Given the description of an element on the screen output the (x, y) to click on. 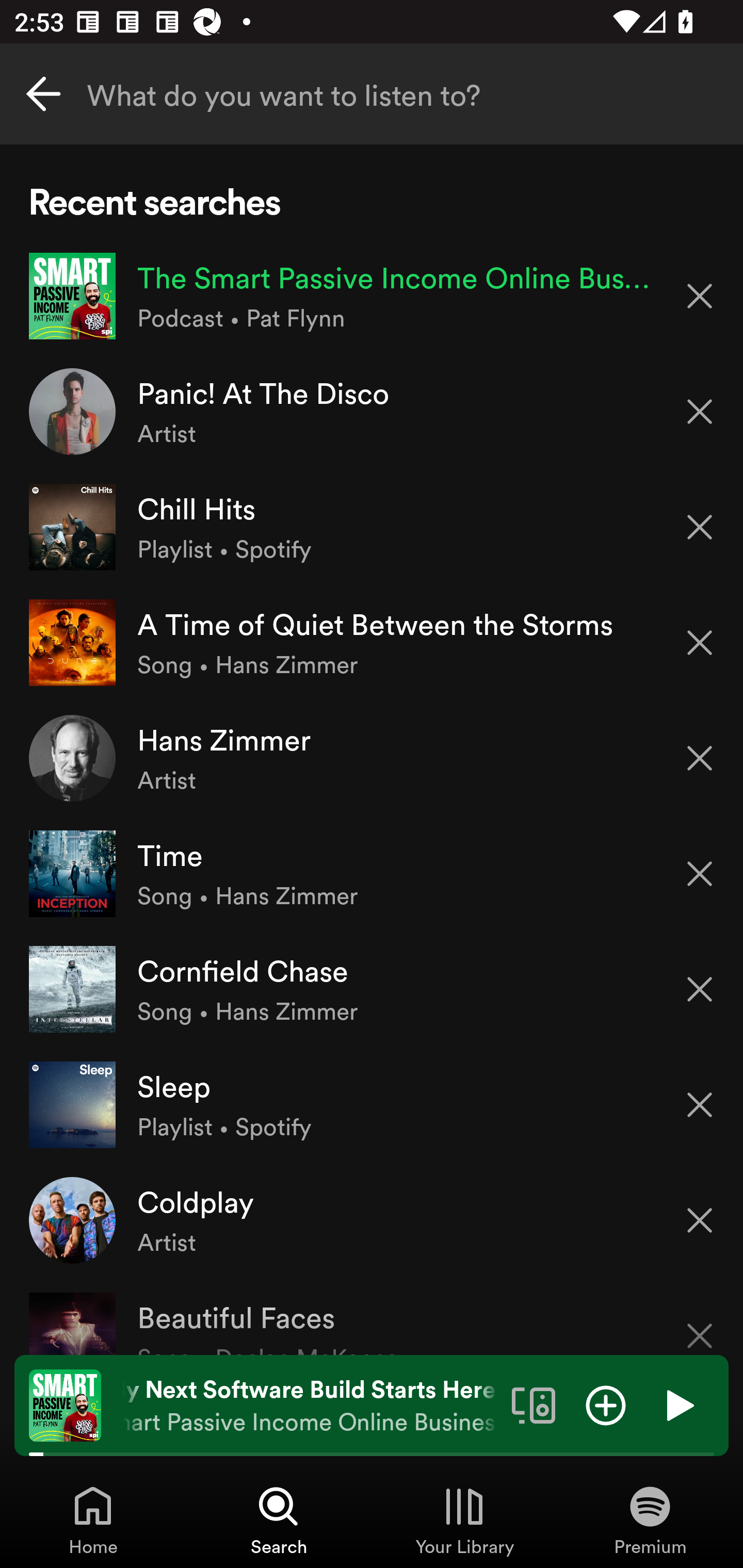
What do you want to listen to? (371, 93)
Cancel (43, 93)
Remove (699, 295)
Panic! At The Disco Artist Remove (371, 411)
Remove (699, 411)
Chill Hits Playlist • Spotify Remove (371, 526)
Remove (699, 527)
Remove (699, 642)
Hans Zimmer Artist Remove (371, 757)
Remove (699, 758)
Time Song • Hans Zimmer Remove (371, 873)
Remove (699, 874)
Cornfield Chase Song • Hans Zimmer Remove (371, 989)
Remove (699, 989)
Sleep Playlist • Spotify Remove (371, 1104)
Remove (699, 1104)
Coldplay Artist Remove (371, 1219)
Remove (699, 1220)
Beautiful Faces Song • Declan McKenna Remove (371, 1315)
Remove (699, 1323)
The cover art of the currently playing track (64, 1404)
Connect to a device. Opens the devices menu (533, 1404)
Add item (605, 1404)
Play (677, 1404)
Home, Tab 1 of 4 Home Home (92, 1519)
Search, Tab 2 of 4 Search Search (278, 1519)
Your Library, Tab 3 of 4 Your Library Your Library (464, 1519)
Premium, Tab 4 of 4 Premium Premium (650, 1519)
